Given the description of an element on the screen output the (x, y) to click on. 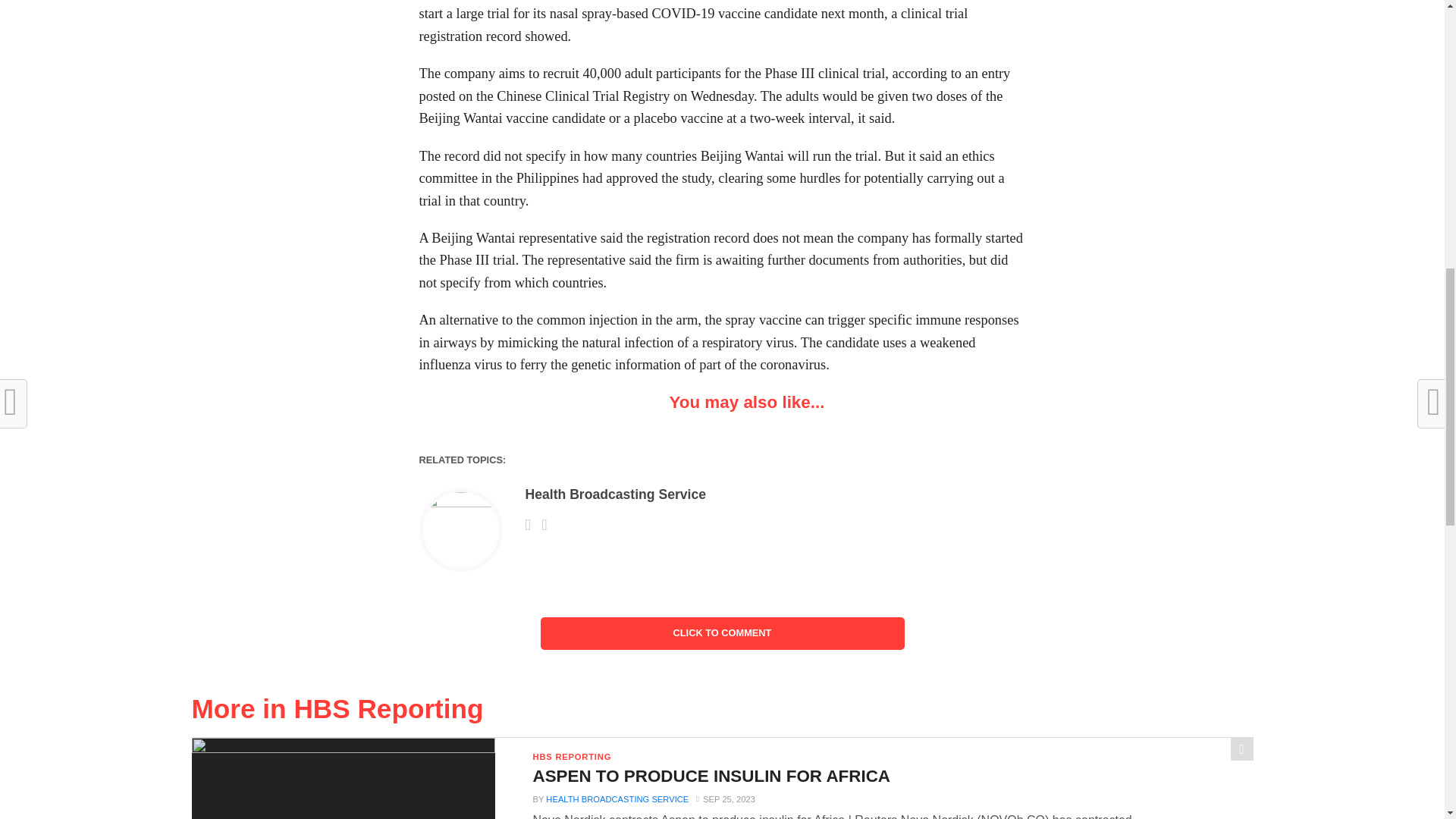
Health Broadcasting Service (615, 494)
Posts by Health Broadcasting Service (615, 494)
Posts by Health Broadcasting Service (617, 798)
